Given the description of an element on the screen output the (x, y) to click on. 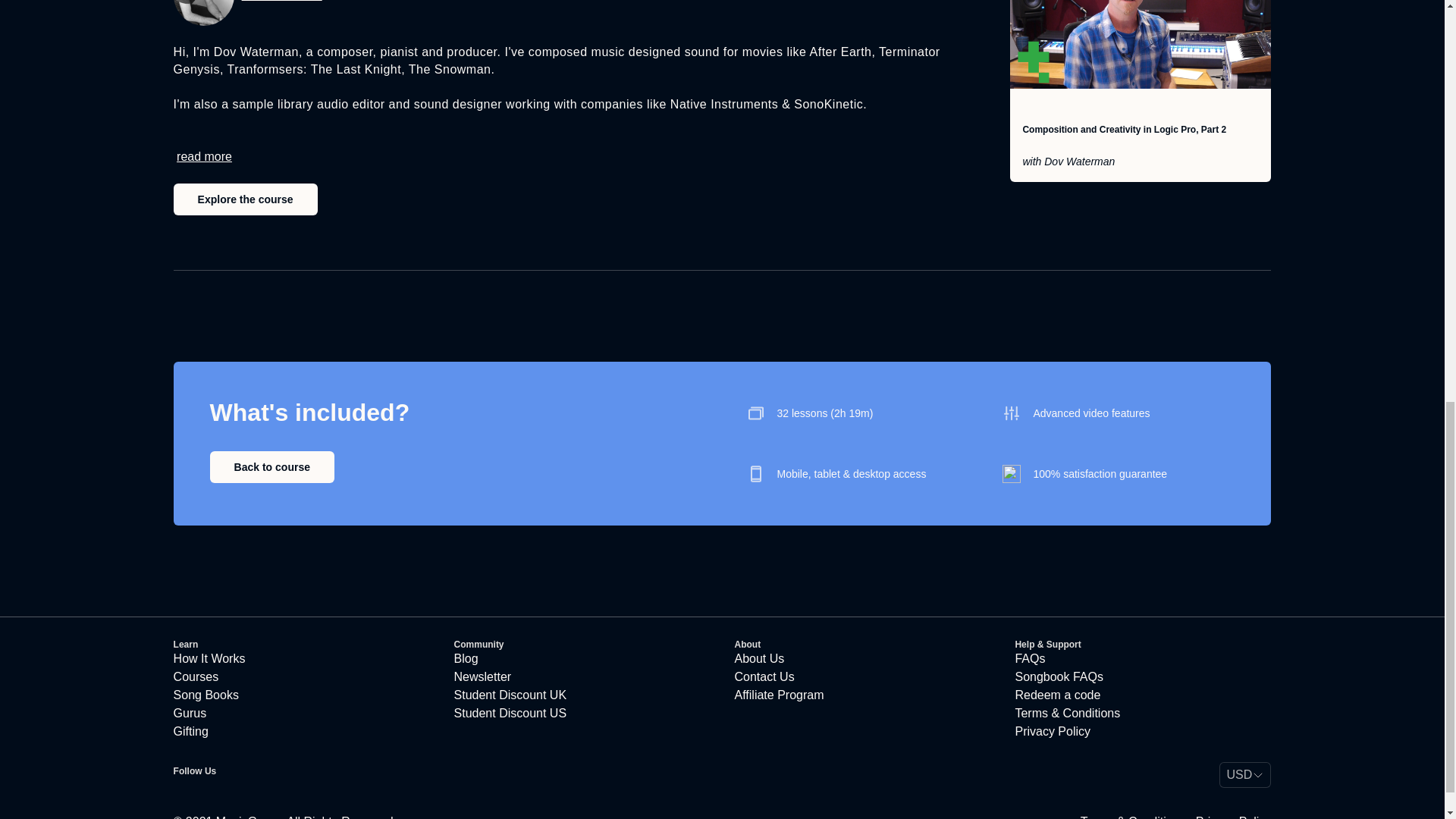
Explore the course (245, 199)
Composition and Creativity in Logic Pro, Part 2 (1123, 129)
Dov Waterman (281, 2)
Back to course (271, 467)
read more (203, 155)
